Given the description of an element on the screen output the (x, y) to click on. 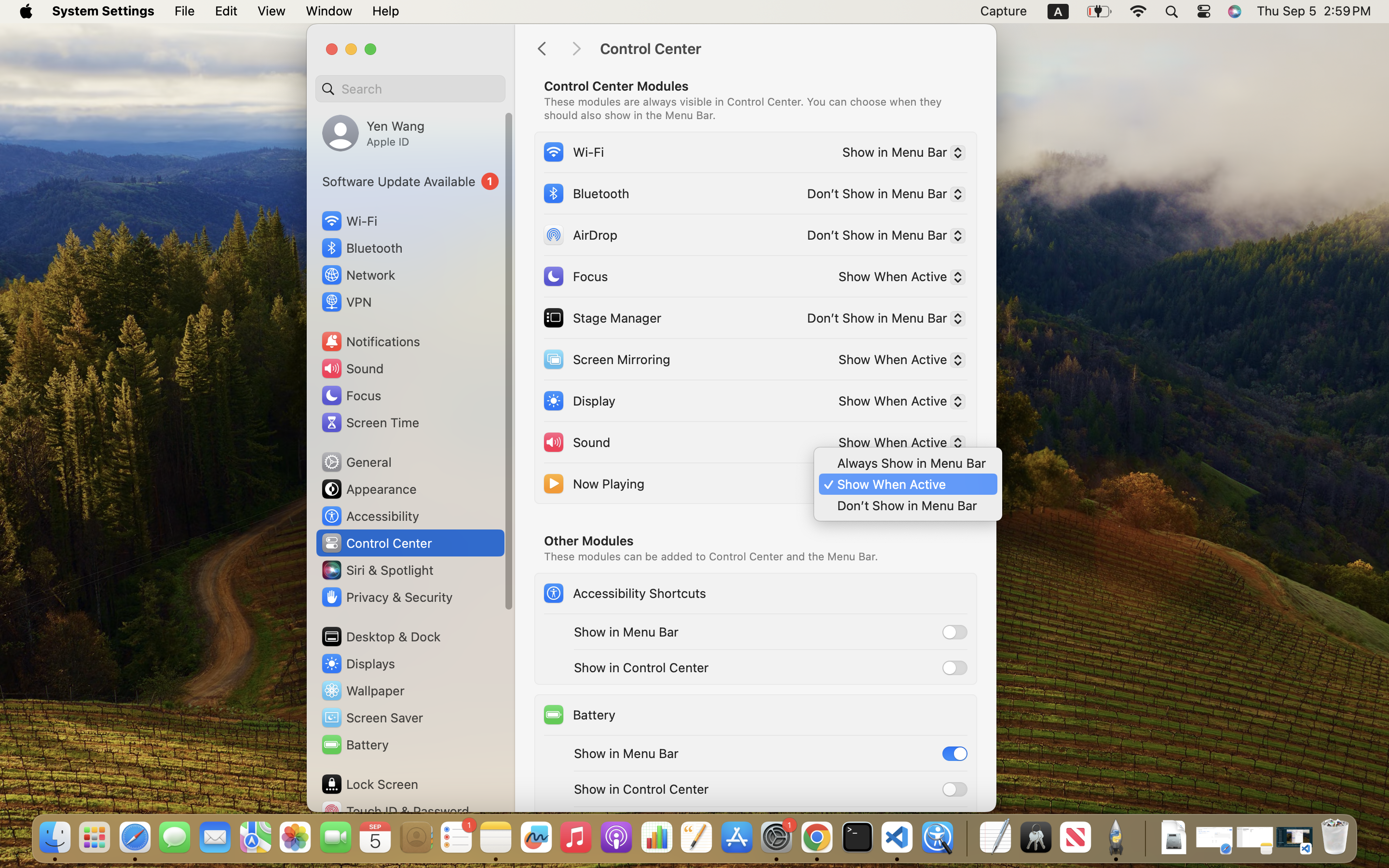
Network Element type: AXStaticText (357, 274)
Screen Time Element type: AXStaticText (369, 422)
Battery Element type: AXStaticText (578, 714)
Control Center Element type: AXStaticText (788, 49)
